Given the description of an element on the screen output the (x, y) to click on. 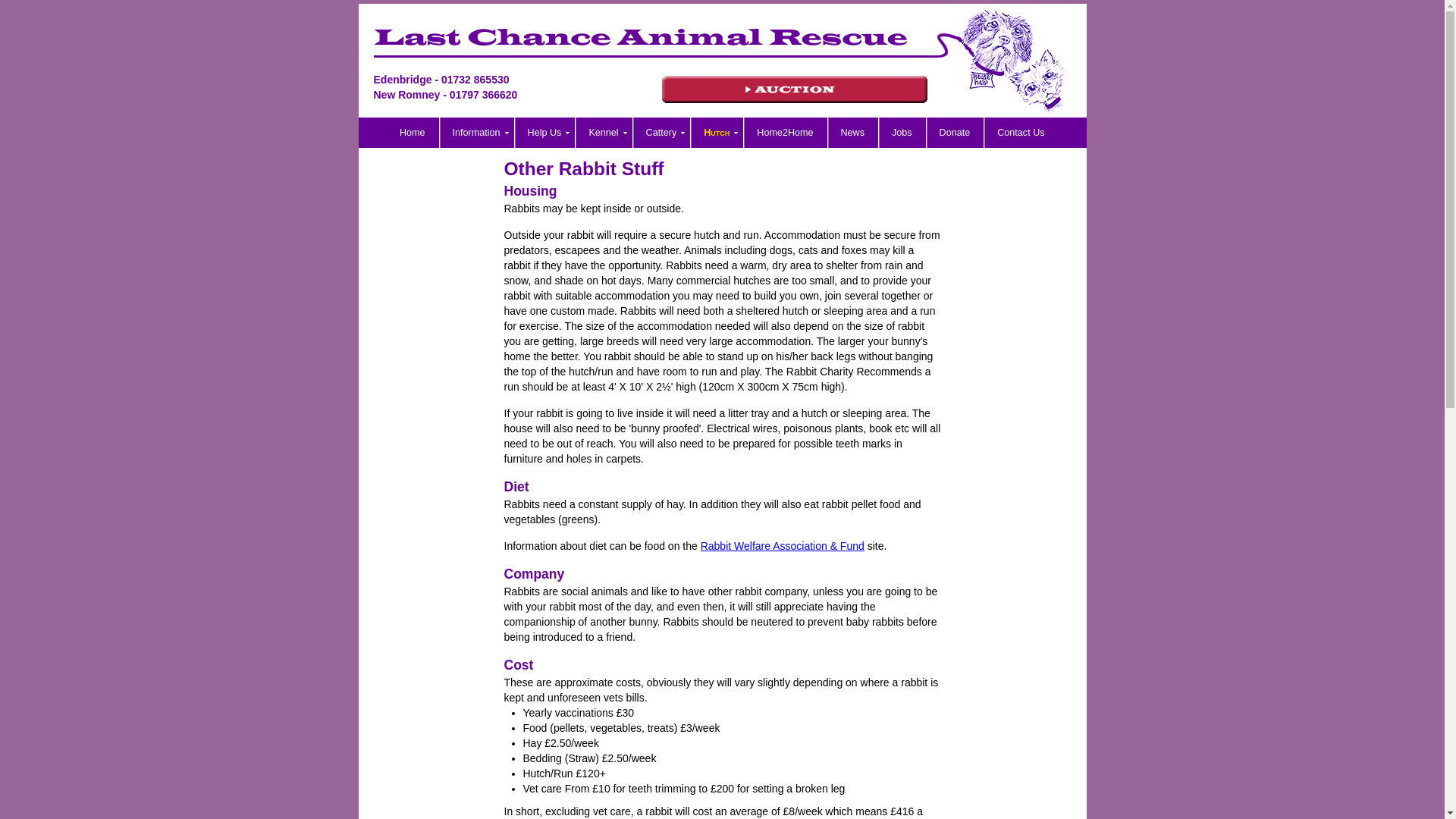
Help Us (545, 132)
Auction (793, 89)
Kennel (603, 132)
Home (413, 132)
Information (477, 132)
